Given the description of an element on the screen output the (x, y) to click on. 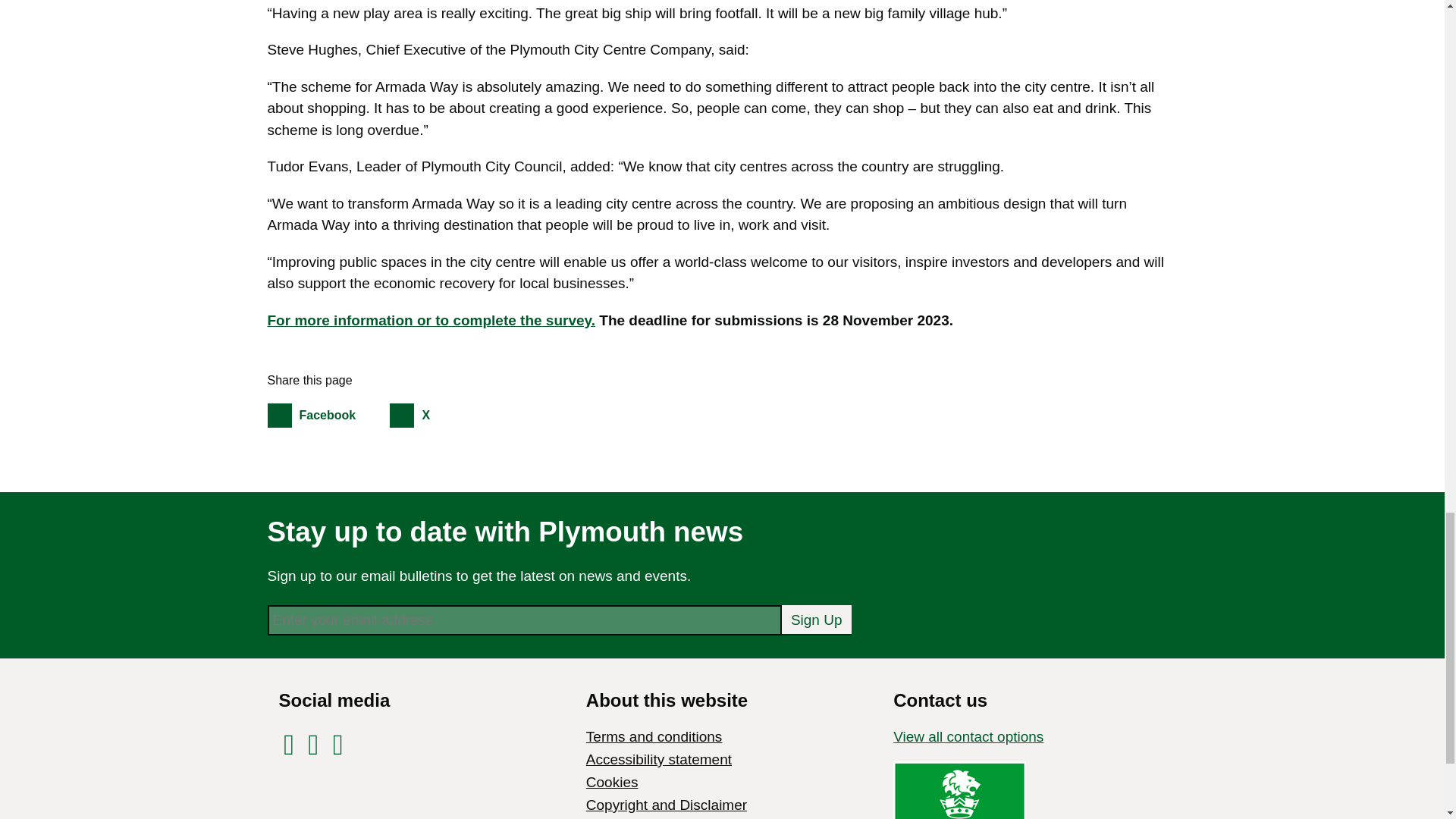
Copyright and Disclaimer (666, 804)
Sign Up (816, 619)
Accessibility statement (659, 759)
Terms and conditions (654, 736)
Share to Facebook (326, 414)
For more information or to complete the survey. (430, 320)
View all contact options (968, 736)
Cookies (326, 414)
Sign Up (612, 781)
